Given the description of an element on the screen output the (x, y) to click on. 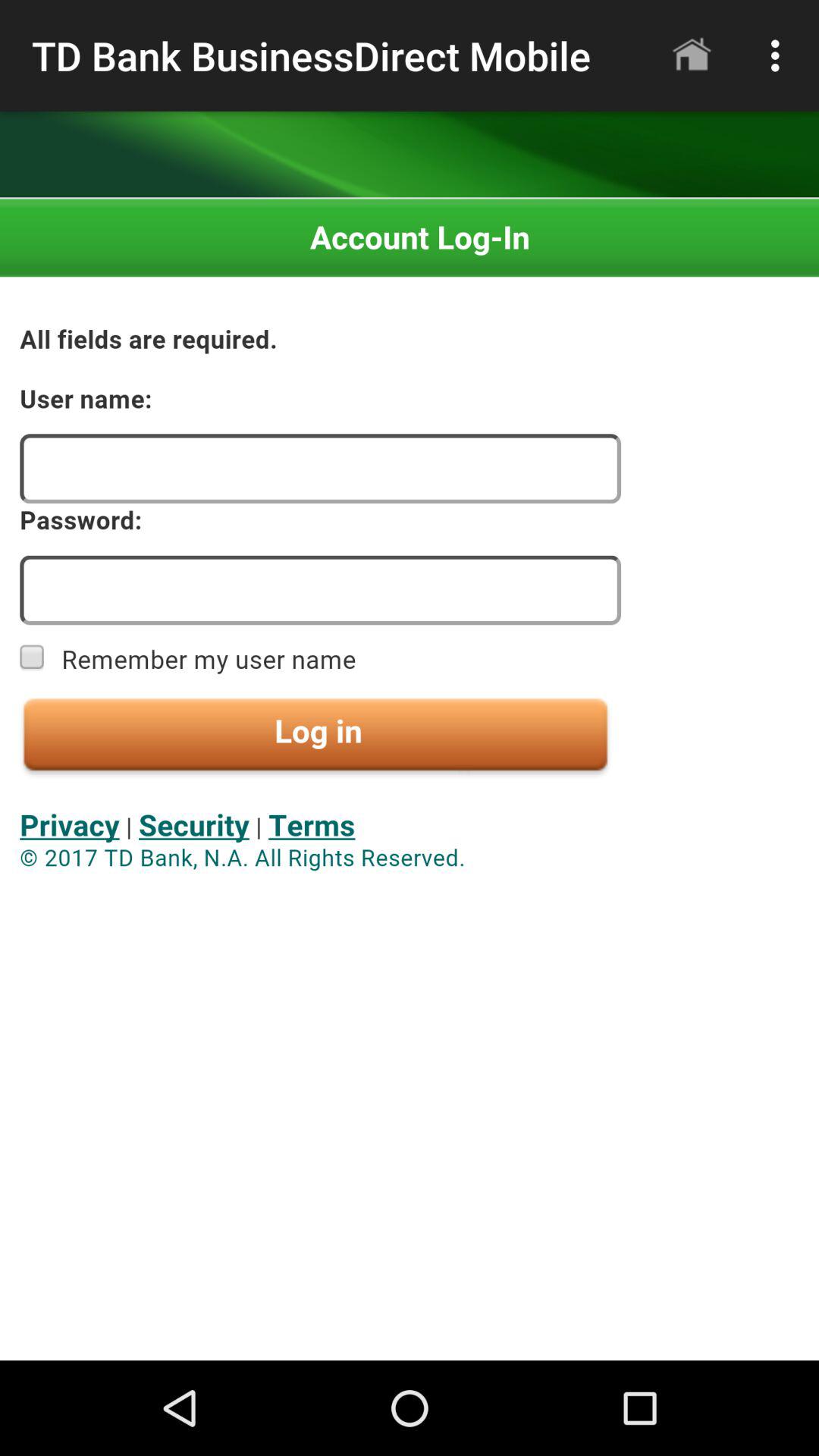
account address page (409, 779)
